Given the description of an element on the screen output the (x, y) to click on. 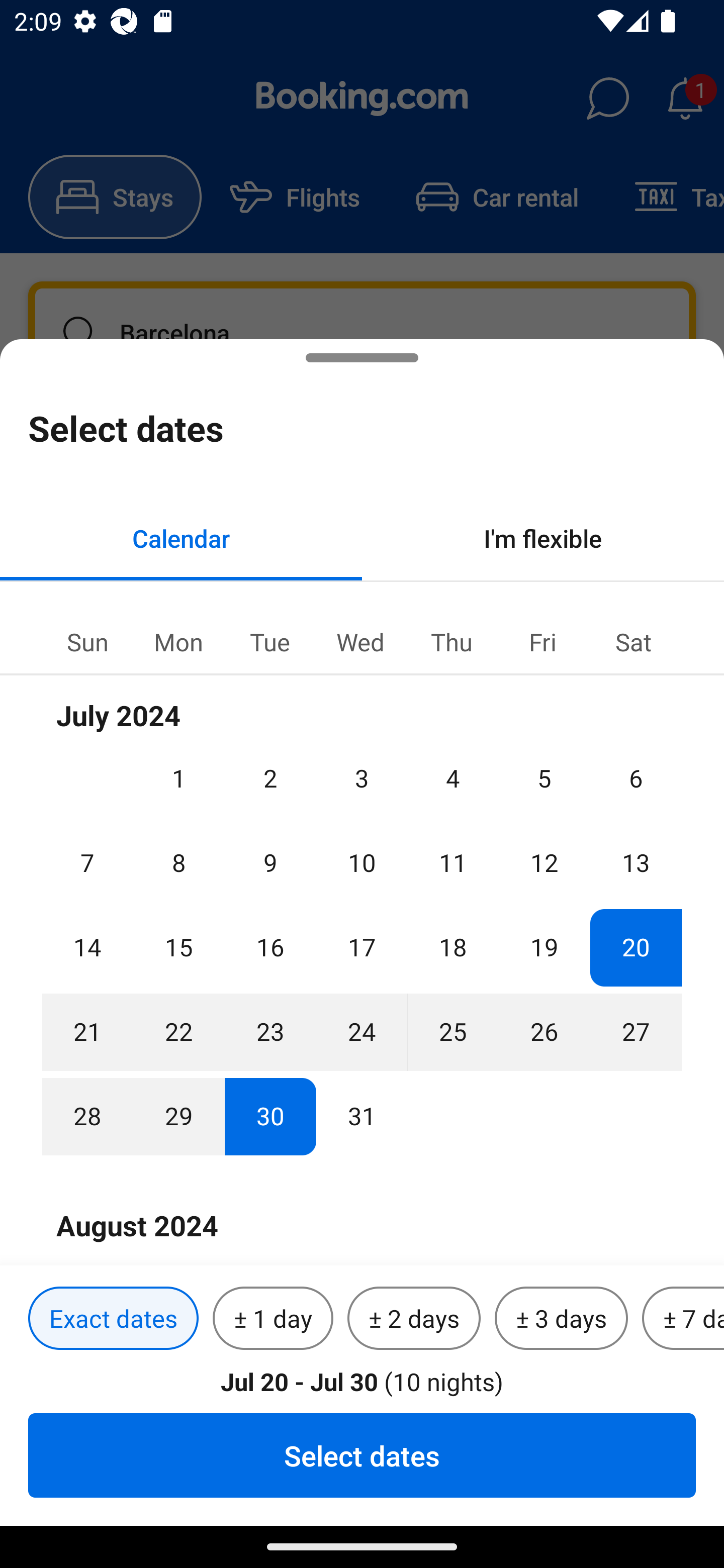
I'm flexible (543, 537)
Exact dates (113, 1318)
± 1 day (272, 1318)
± 2 days (413, 1318)
± 3 days (560, 1318)
± 7 days (683, 1318)
Select dates (361, 1454)
